Given the description of an element on the screen output the (x, y) to click on. 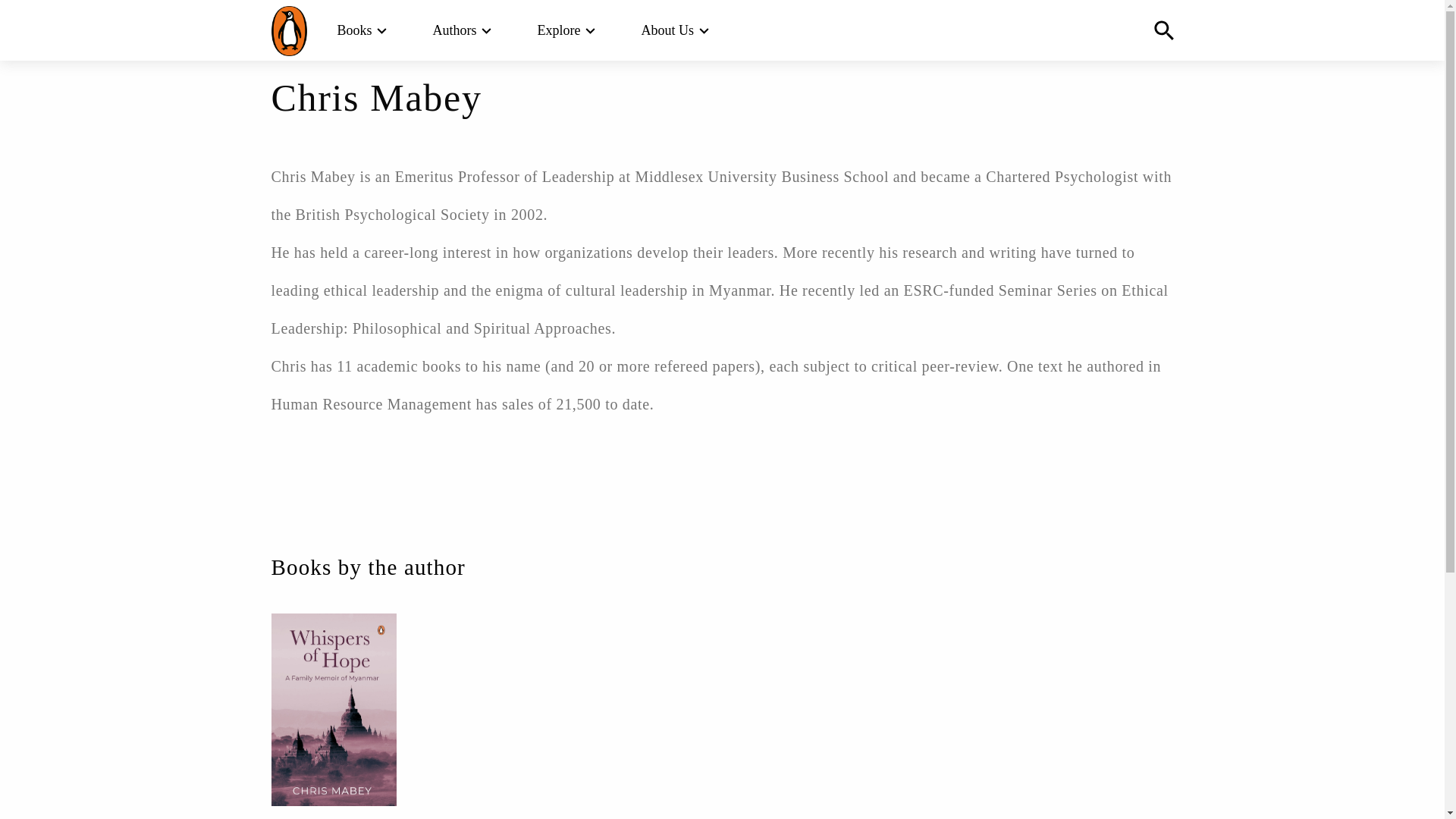
Books (353, 30)
Explore (558, 30)
Authors (454, 30)
